Given the description of an element on the screen output the (x, y) to click on. 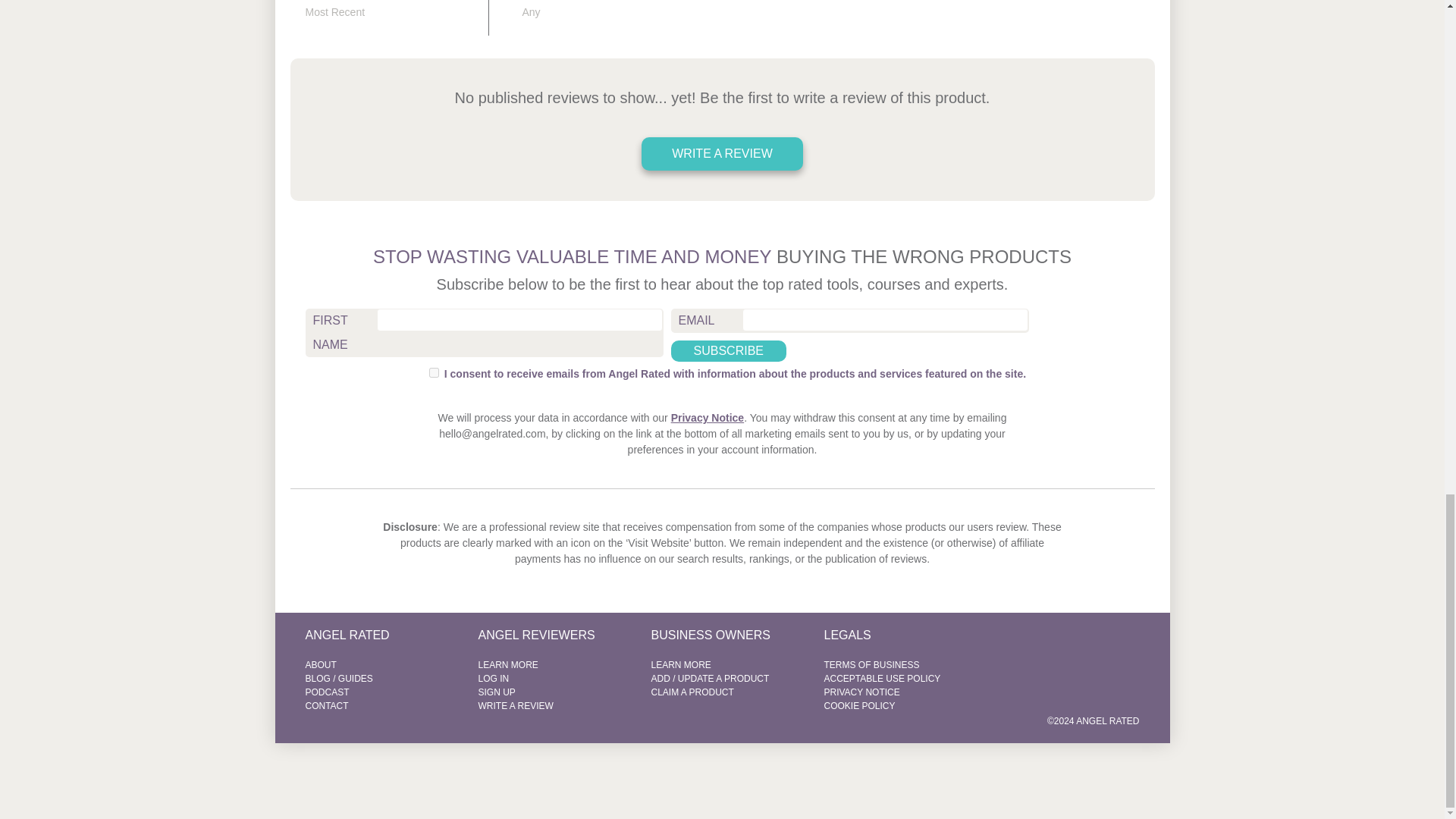
on (434, 372)
